Given the description of an element on the screen output the (x, y) to click on. 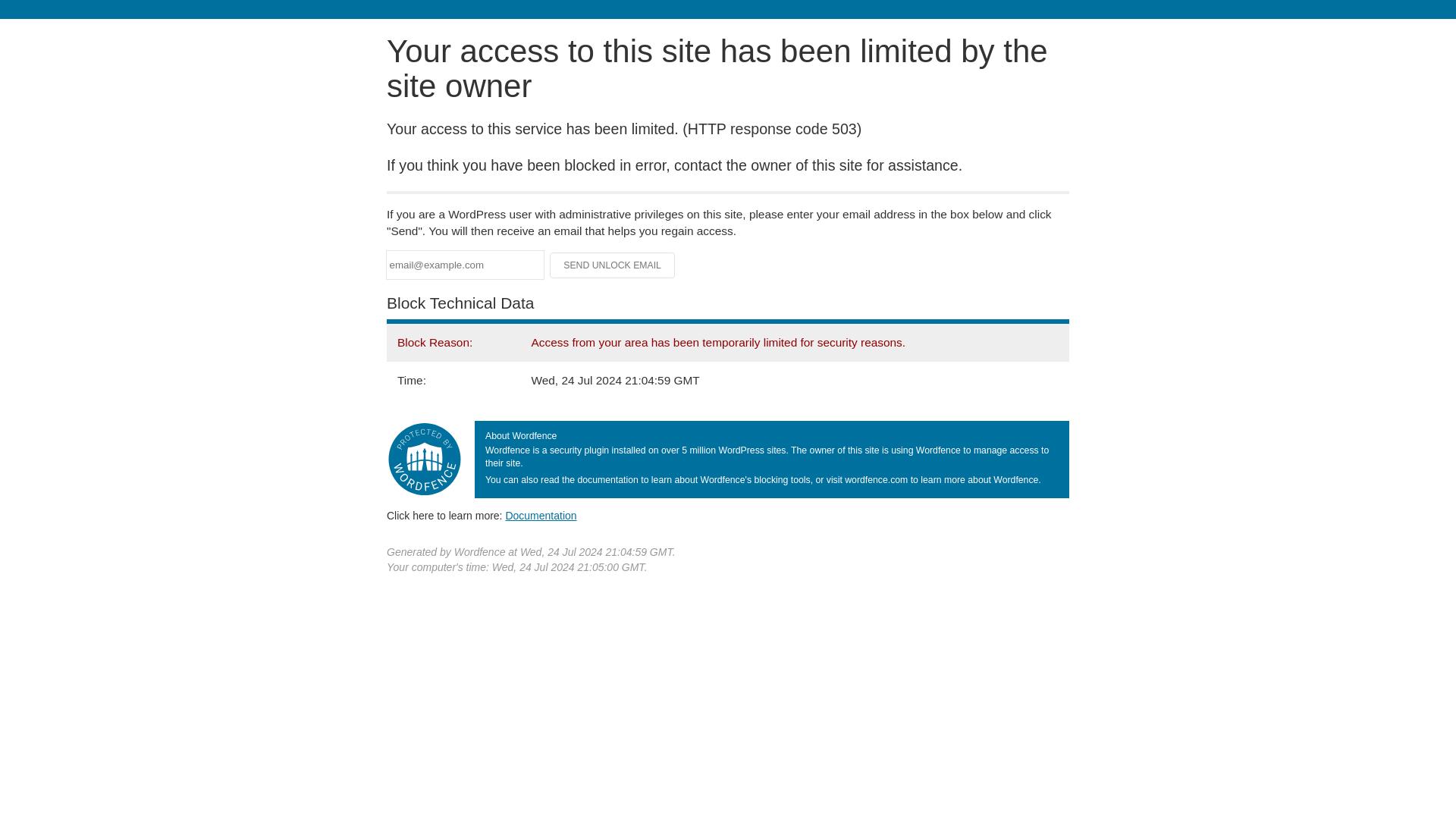
Send Unlock Email (612, 265)
Send Unlock Email (612, 265)
Documentation (540, 515)
